Given the description of an element on the screen output the (x, y) to click on. 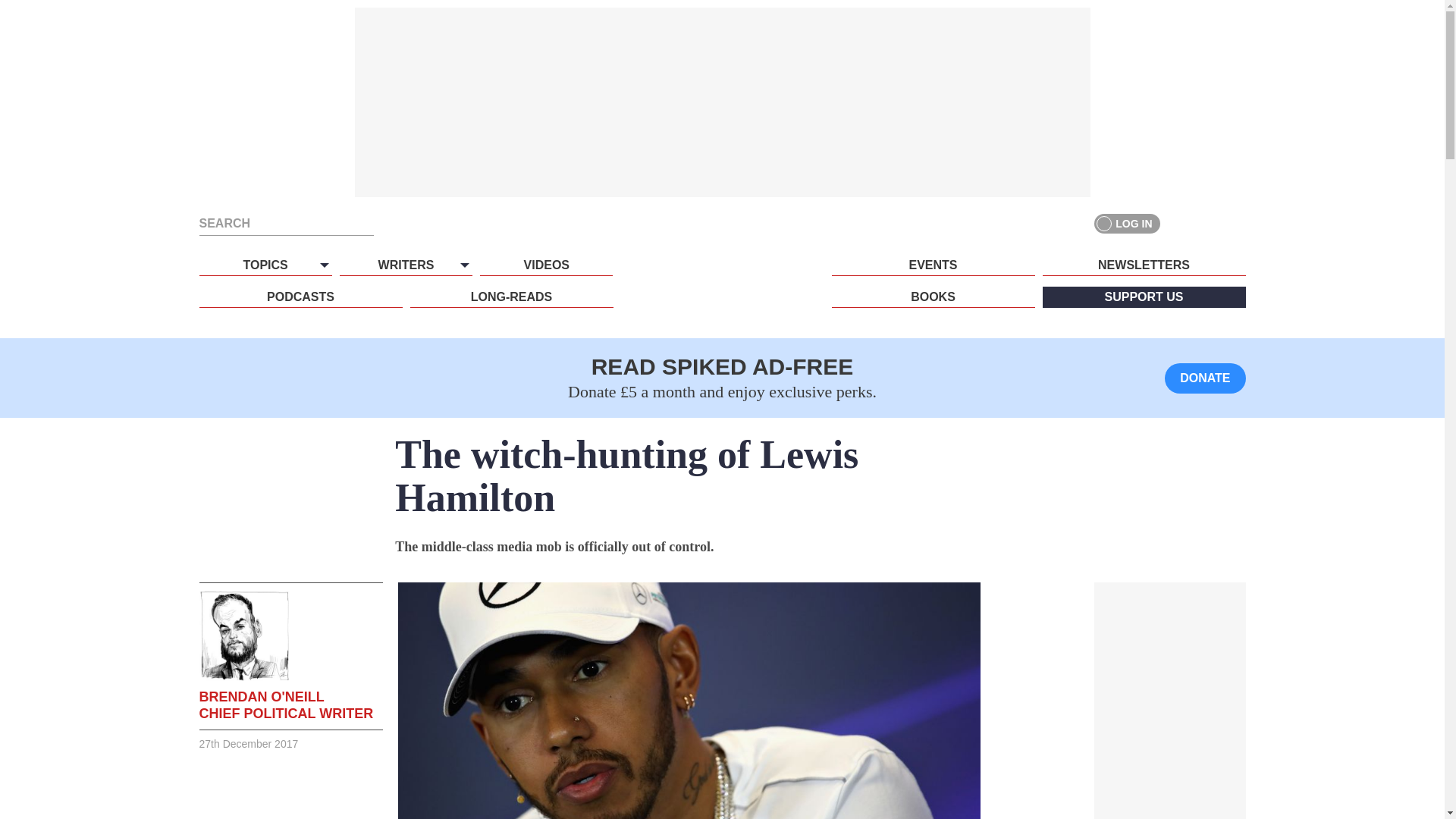
BOOKS (932, 296)
Facebook (1180, 223)
spiked - humanity is underrated (722, 293)
TOPICS (264, 265)
LOG IN (1126, 223)
WRITERS (405, 265)
Twitter (1207, 223)
VIDEOS (546, 265)
SUPPORT US (1143, 296)
NEWSLETTERS (1143, 265)
